Given the description of an element on the screen output the (x, y) to click on. 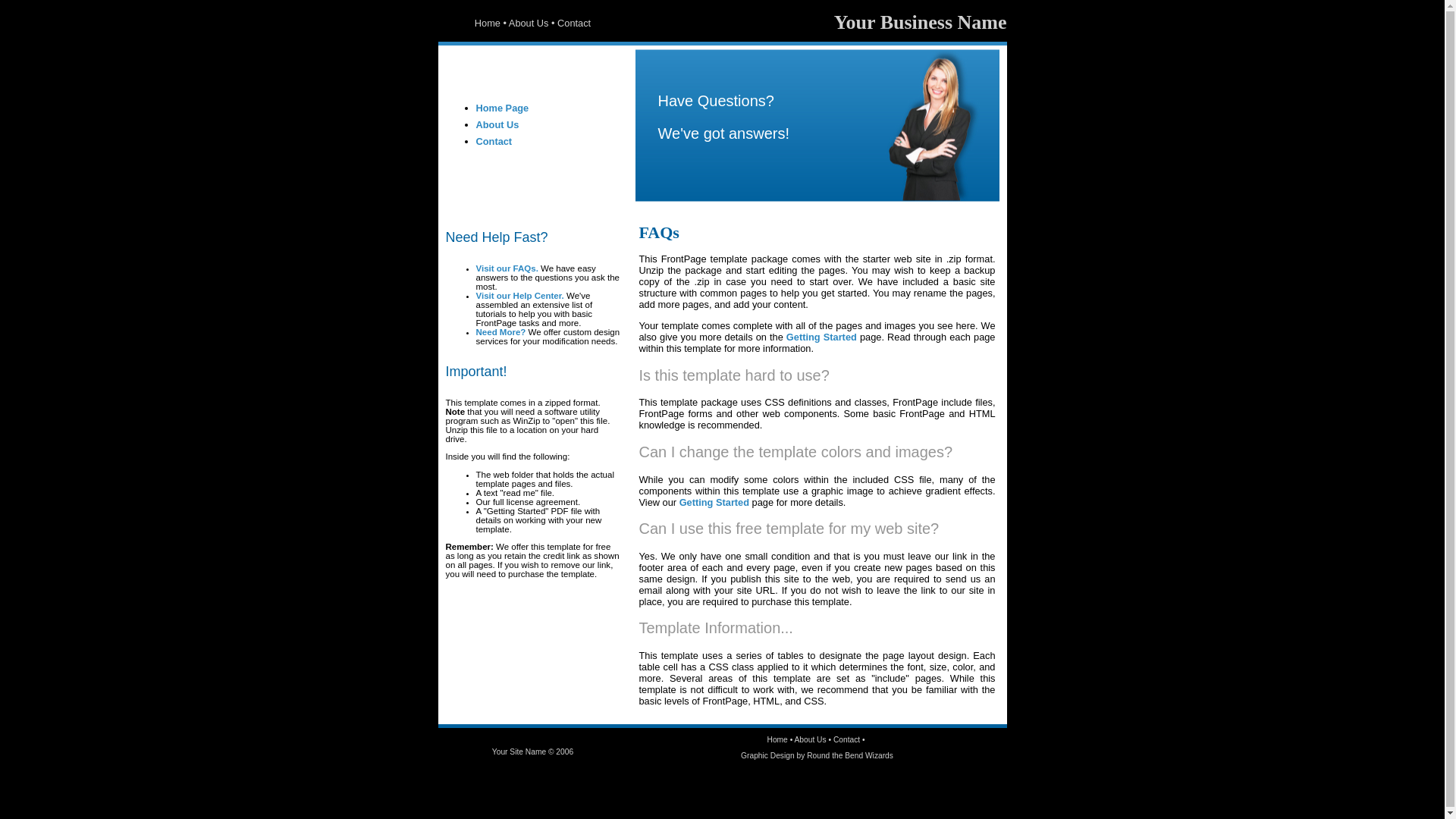
Visit our Help Center. Element type: text (520, 295)
About Us Element type: text (810, 739)
Visit our FAQs. Element type: text (507, 268)
Contact Element type: text (573, 22)
About Us Element type: text (497, 123)
Contact Element type: text (846, 739)
Round the Bend Wizards Element type: text (849, 755)
About Us Element type: text (528, 22)
Home Element type: text (487, 22)
Home Page Element type: text (502, 106)
Home Element type: text (777, 739)
Getting Started Element type: text (821, 336)
Contact Element type: text (494, 140)
Need More? Element type: text (501, 331)
Getting Started Element type: text (714, 502)
